Given the description of an element on the screen output the (x, y) to click on. 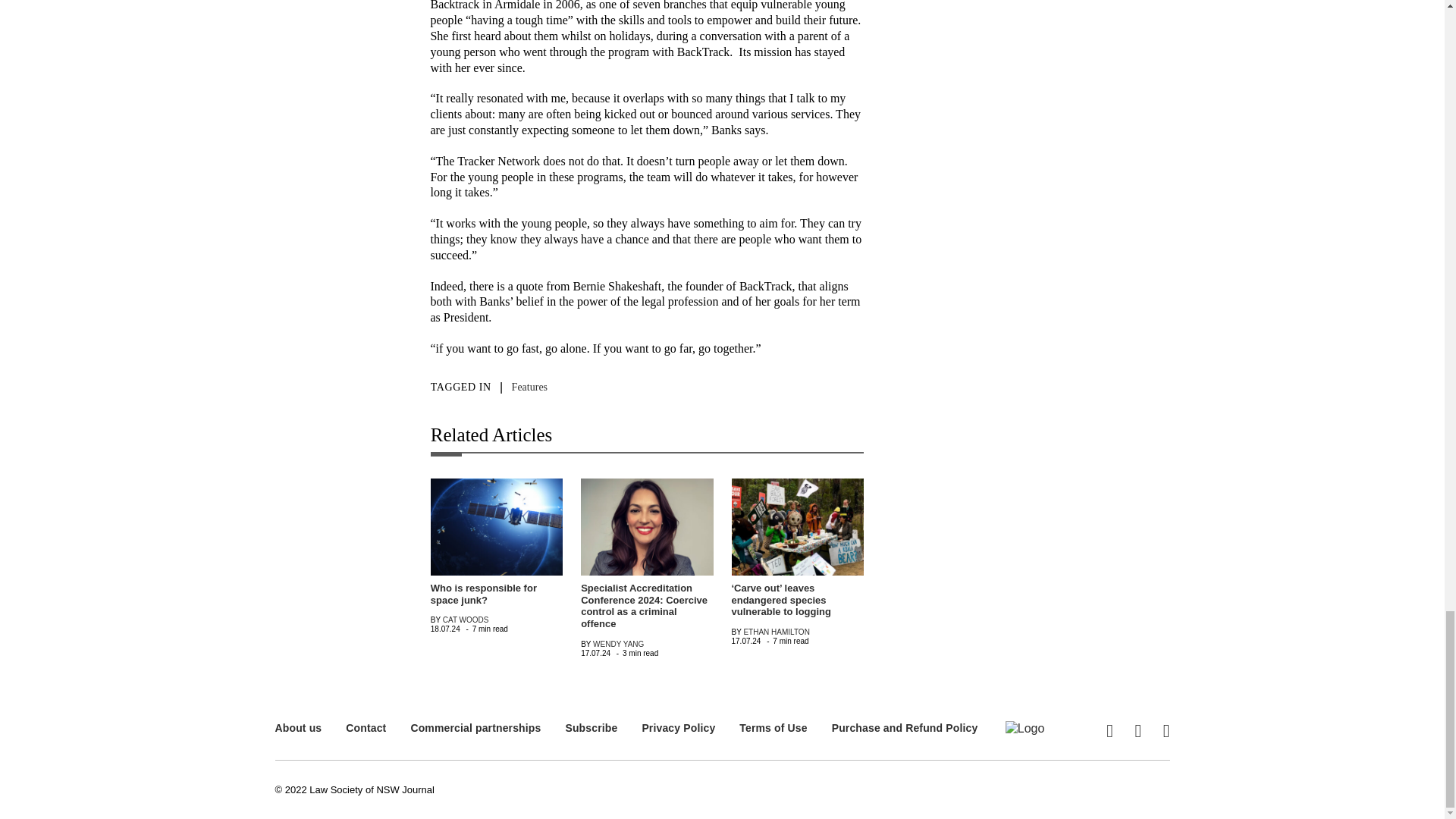
Posts by Ethan Hamilton (775, 632)
Posts by Wendy Yang (617, 643)
Posts by Cat Woods (465, 619)
